Given the description of an element on the screen output the (x, y) to click on. 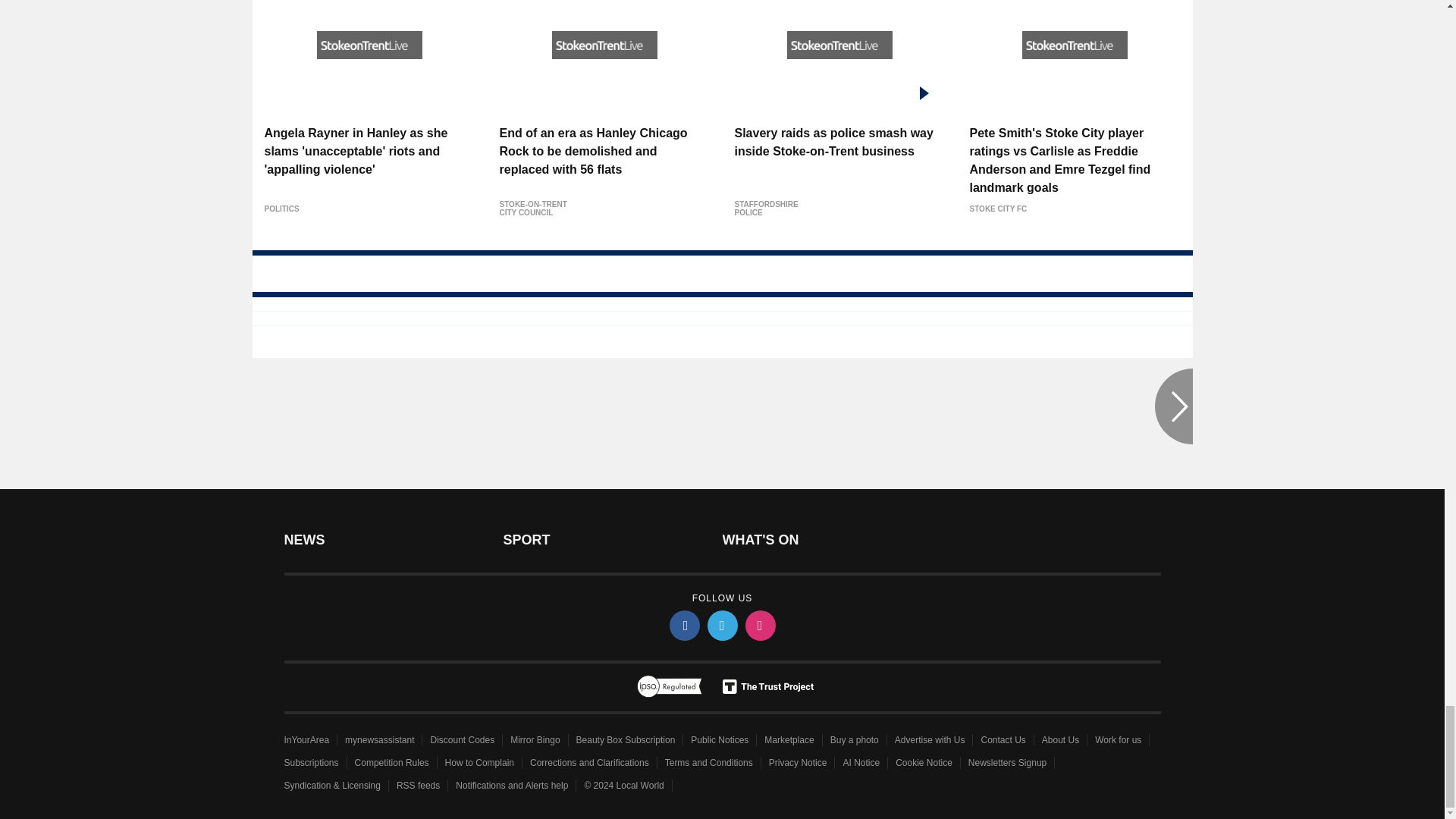
facebook (683, 625)
instagram (759, 625)
twitter (721, 625)
